Given the description of an element on the screen output the (x, y) to click on. 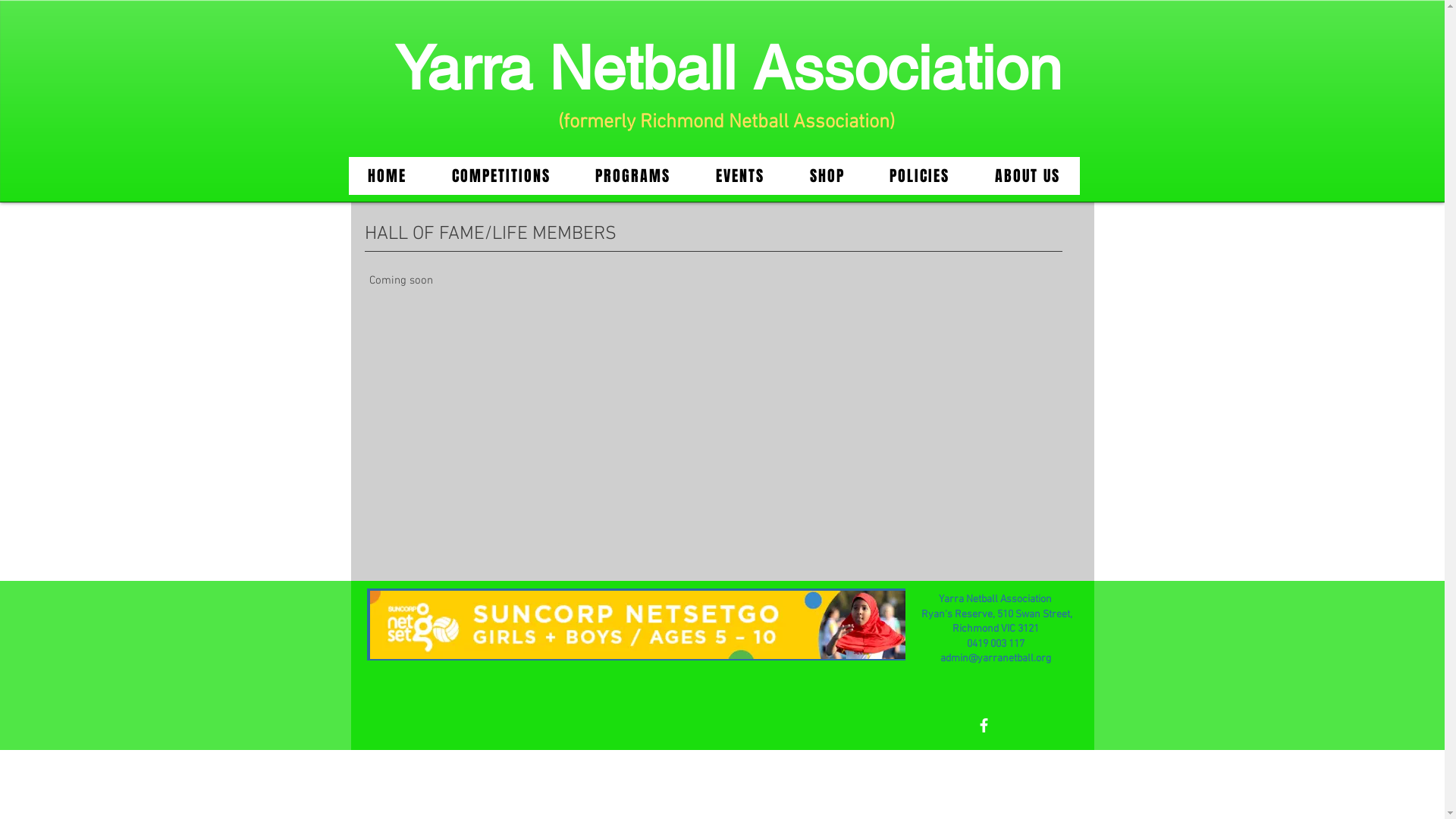
admin@yarranetball.org Element type: text (995, 658)
HOME Element type: text (387, 175)
SHOP Element type: text (827, 175)
